Given the description of an element on the screen output the (x, y) to click on. 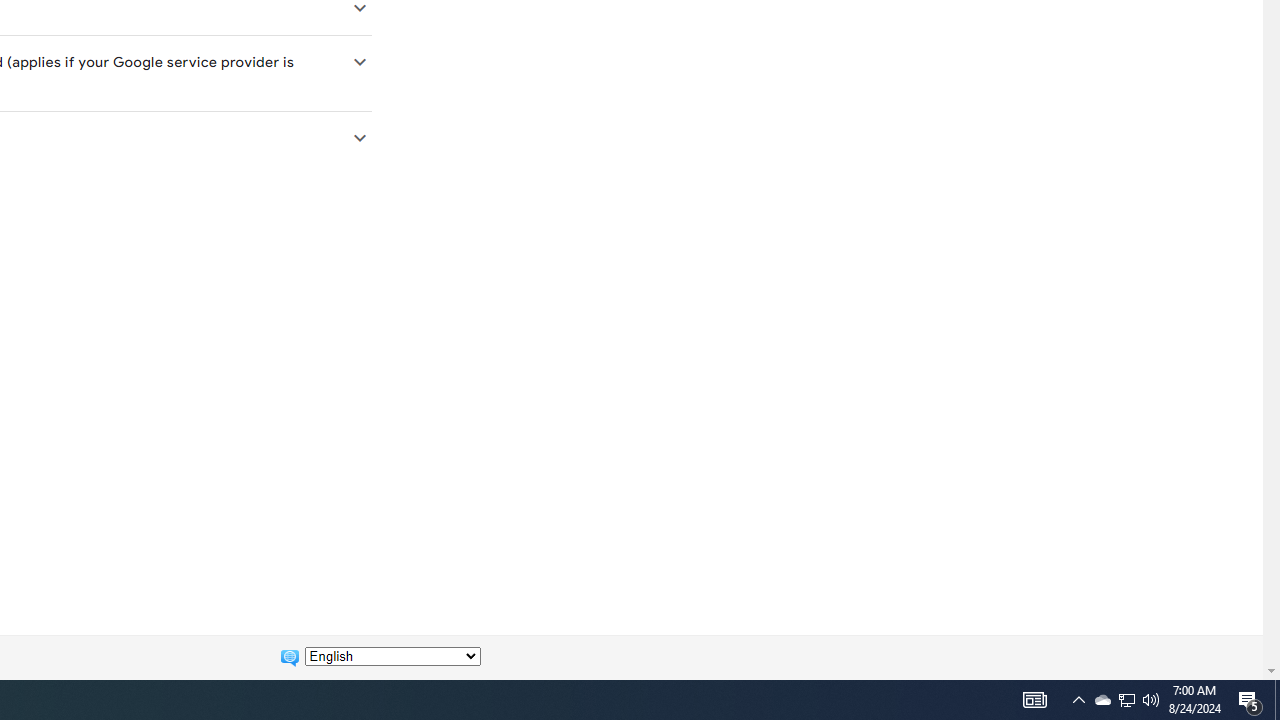
Change language: (392, 656)
